Given the description of an element on the screen output the (x, y) to click on. 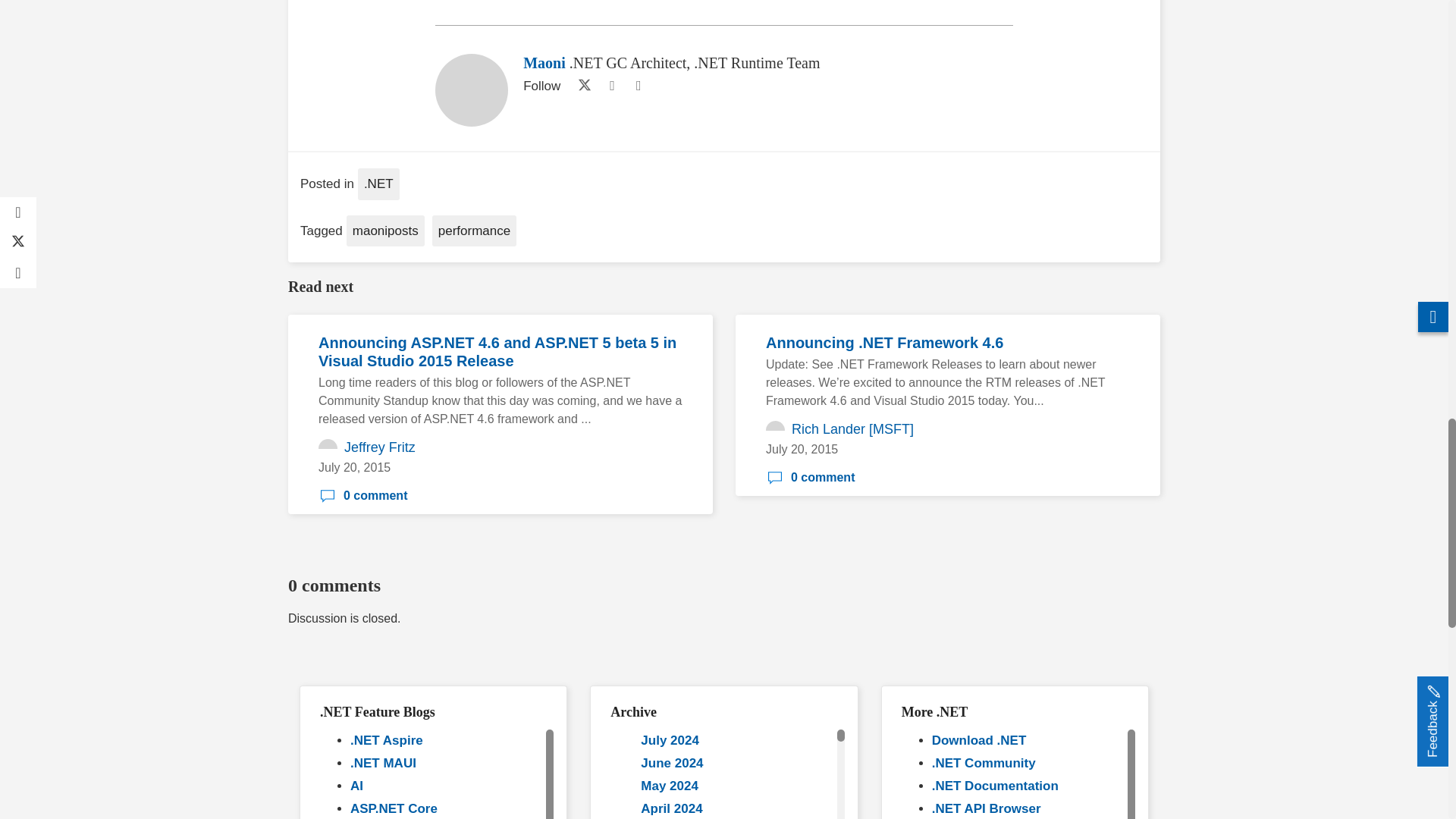
RSS Feed (637, 86)
Github (611, 86)
Twitter (581, 86)
